Given the description of an element on the screen output the (x, y) to click on. 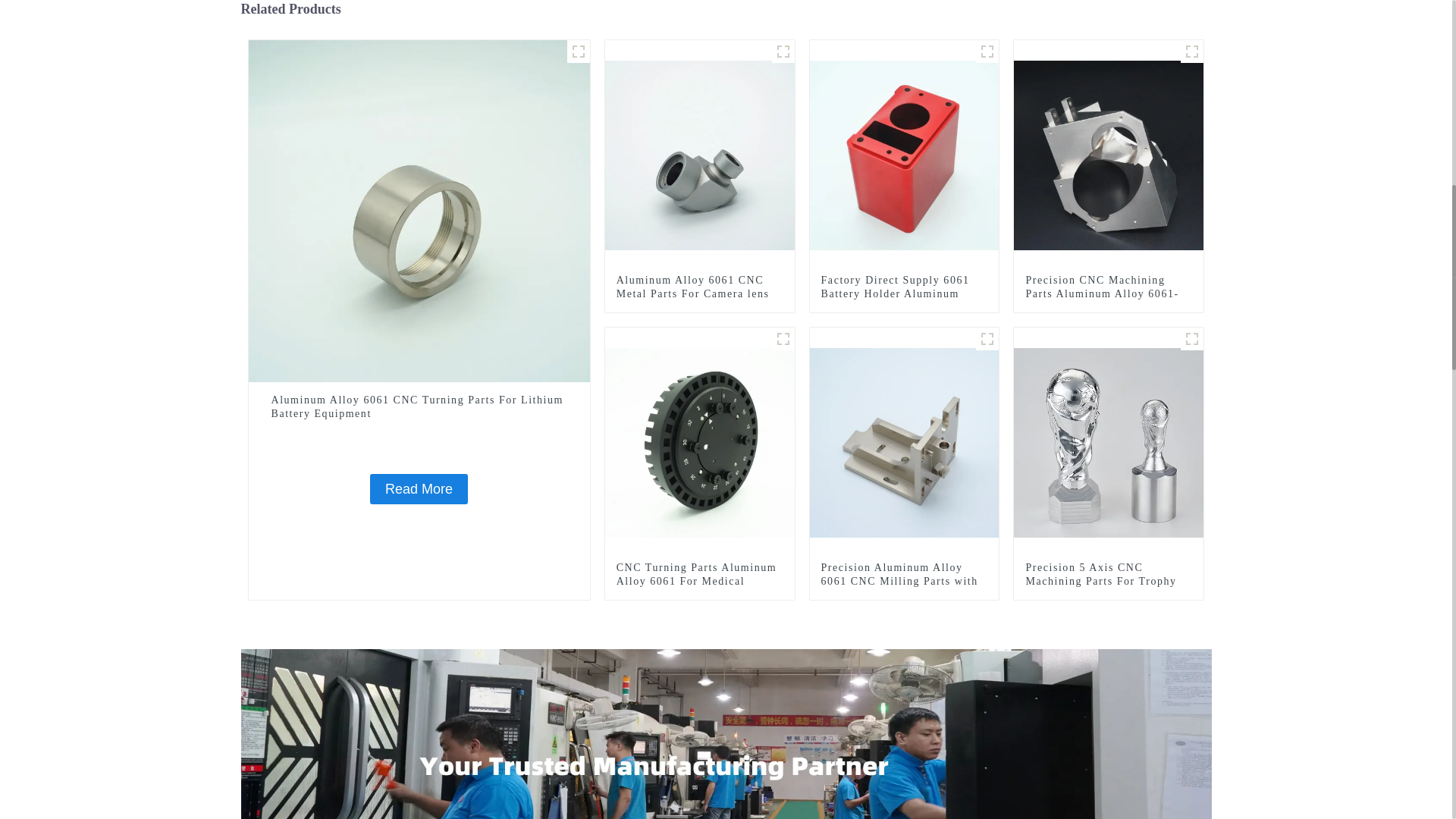
CNC Turning Parts Aluminum Alloy 6061 For Medical Devices (699, 440)
26-1 (782, 338)
CNC machining parts (1192, 51)
15-3 (578, 51)
Aluminum Alloy 6061 CNC Metal Parts For Camera lens (699, 153)
Aluminum Alloy 6061 CNC Metal Parts For Camera lens (699, 287)
10-3 (782, 51)
